Given the description of an element on the screen output the (x, y) to click on. 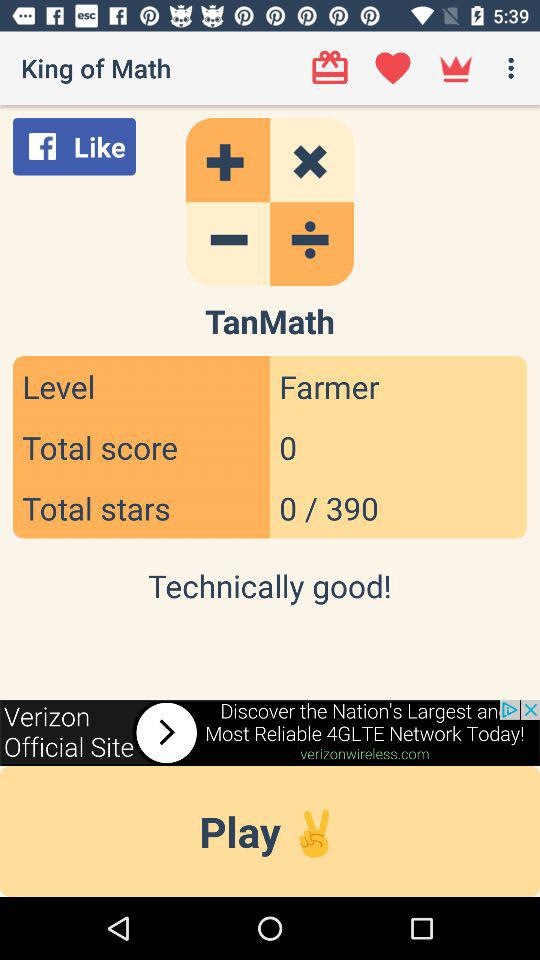
maths using form (270, 202)
